Given the description of an element on the screen output the (x, y) to click on. 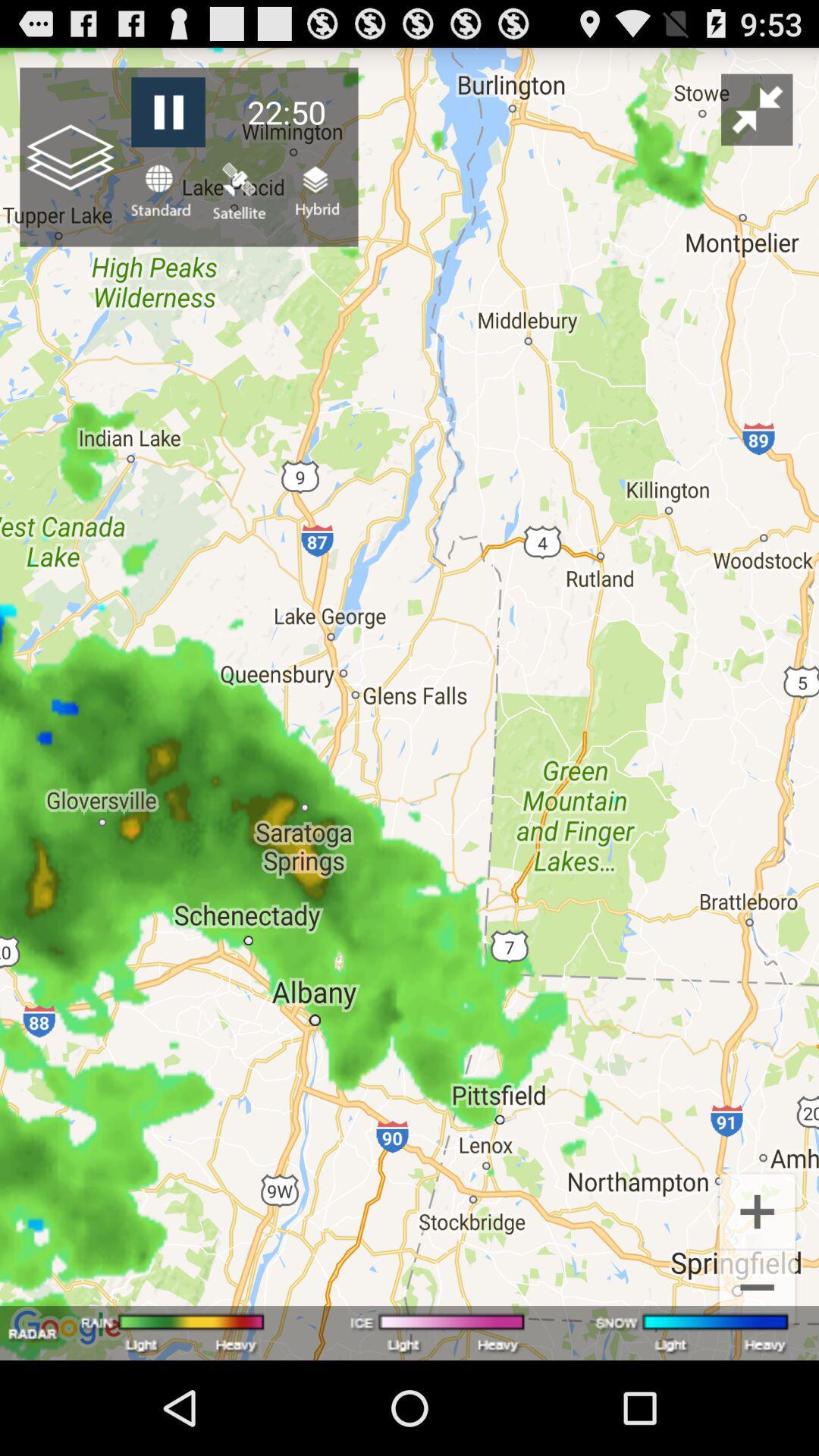
open the item at the center (409, 703)
